Given the description of an element on the screen output the (x, y) to click on. 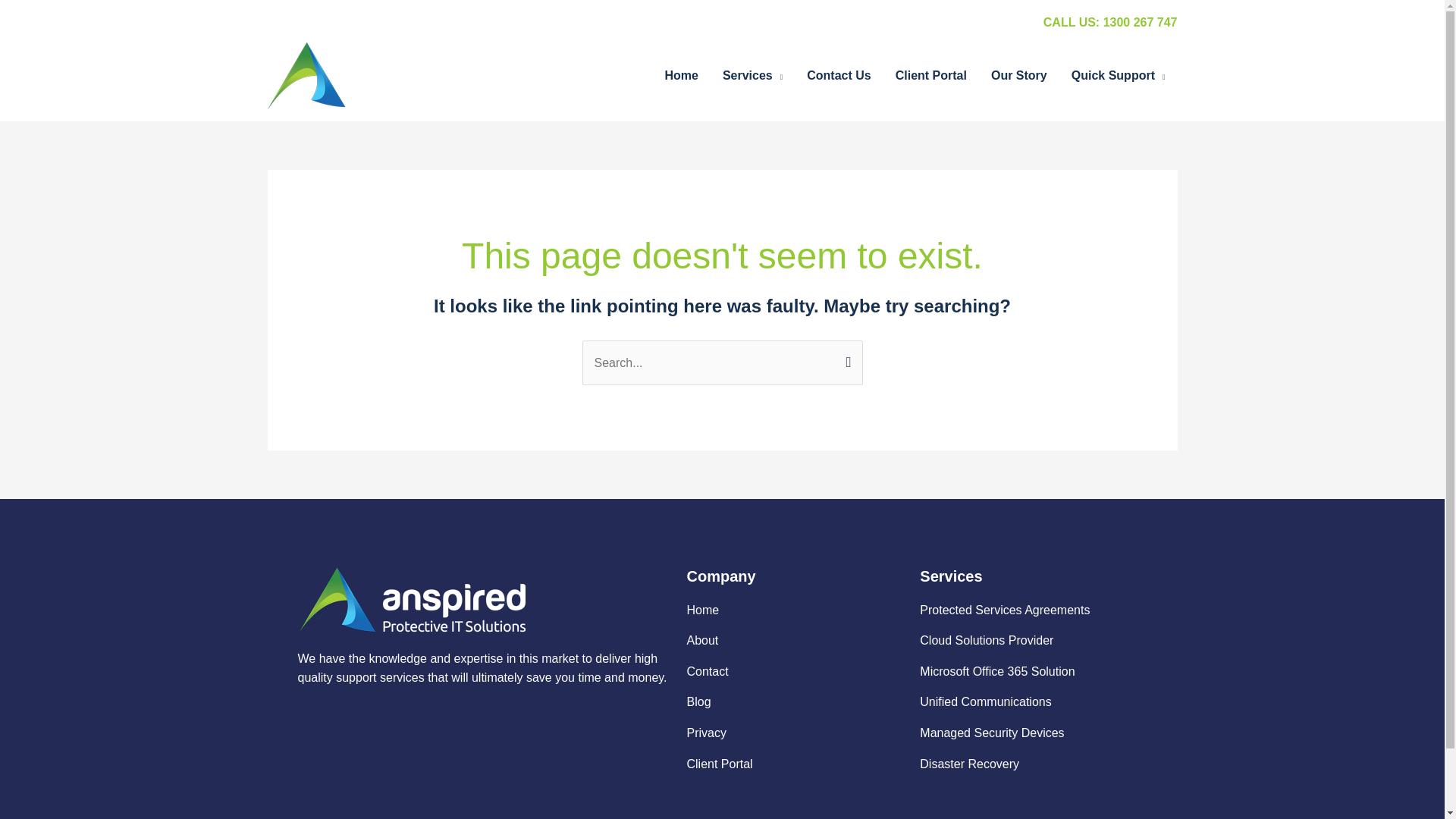
Blog Element type: text (796, 702)
Disaster Recovery Element type: text (1031, 764)
Microsoft Office 365 Solution Element type: text (1031, 671)
Home Element type: text (680, 75)
Privacy Element type: text (796, 733)
Home Element type: text (796, 610)
Unified Communications Element type: text (1031, 702)
Services Element type: text (752, 75)
Quick Support Element type: text (1118, 75)
1300 267 747 Element type: text (1140, 21)
Cloud Solutions Provider Element type: text (1031, 640)
Contact Element type: text (796, 671)
Client Portal Element type: text (931, 75)
Search Element type: text (845, 355)
Protected Services Agreements Element type: text (1031, 610)
Managed Security Devices Element type: text (1031, 733)
Client Portal Element type: text (796, 764)
About Element type: text (796, 640)
Our Story Element type: text (1019, 75)
Contact Us Element type: text (838, 75)
